Given the description of an element on the screen output the (x, y) to click on. 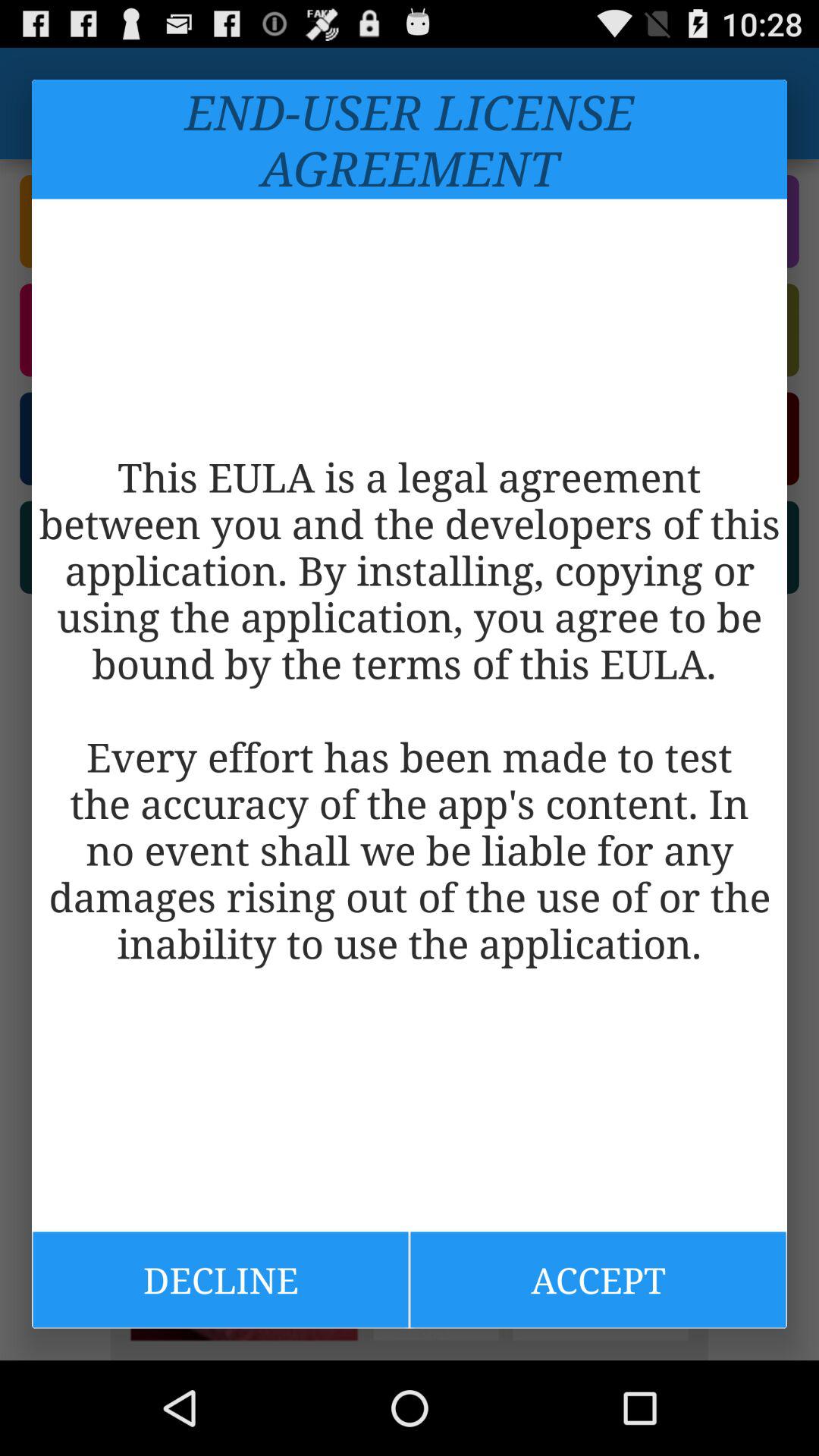
click the icon at the bottom left corner (220, 1279)
